Given the description of an element on the screen output the (x, y) to click on. 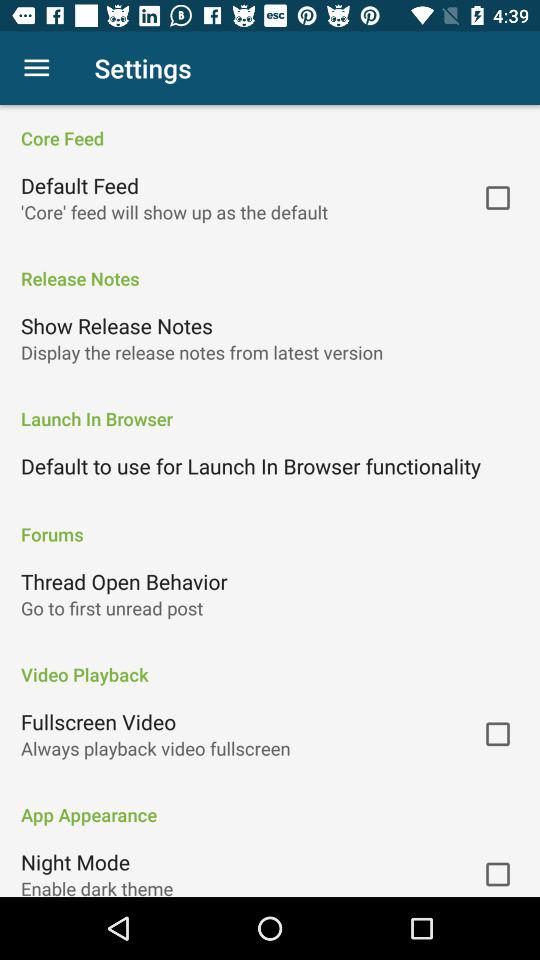
swipe until the display the release (202, 352)
